Given the description of an element on the screen output the (x, y) to click on. 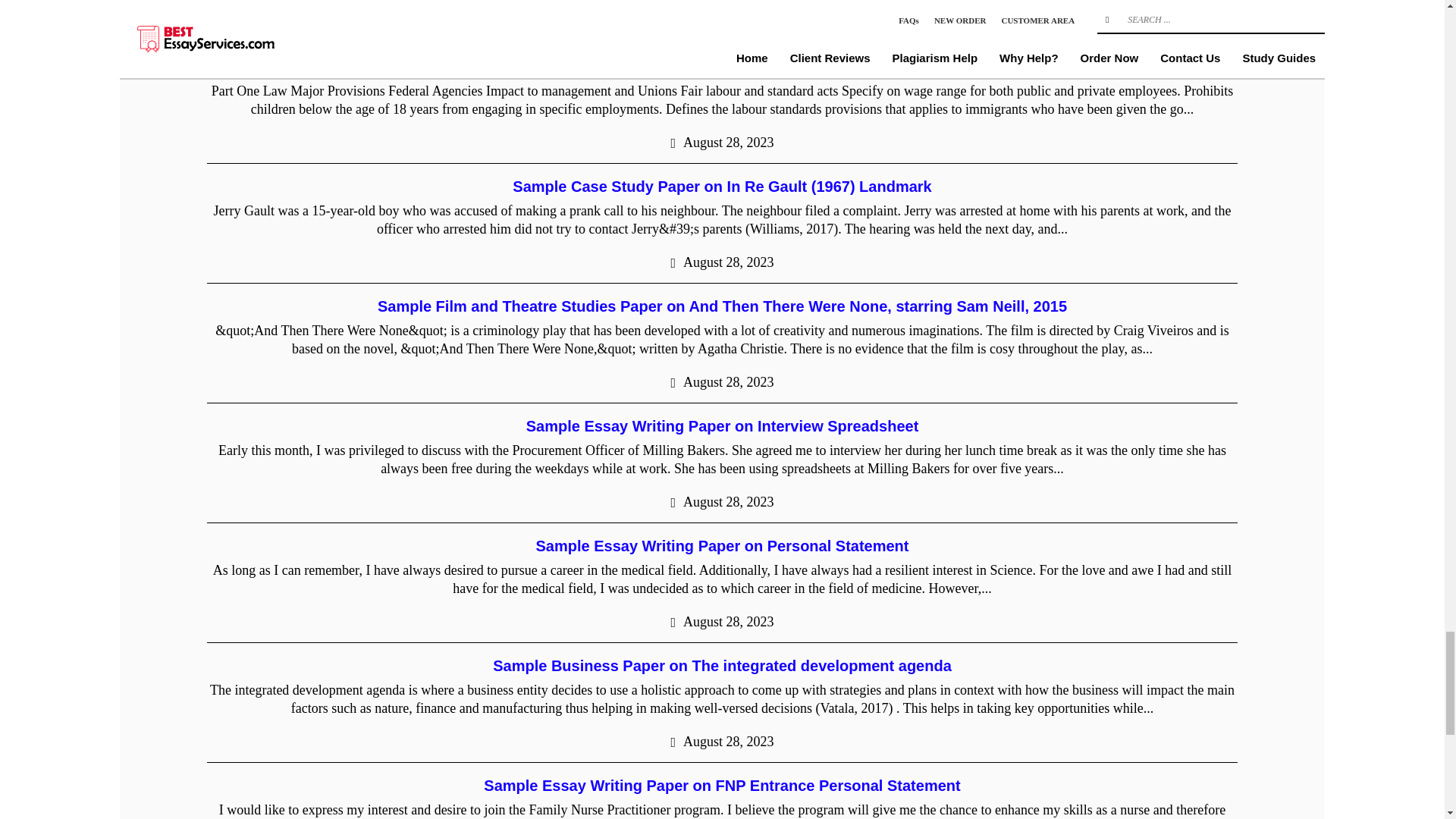
Sample Essay Writing Paper on Interview Spreadsheet (721, 425)
